Given the description of an element on the screen output the (x, y) to click on. 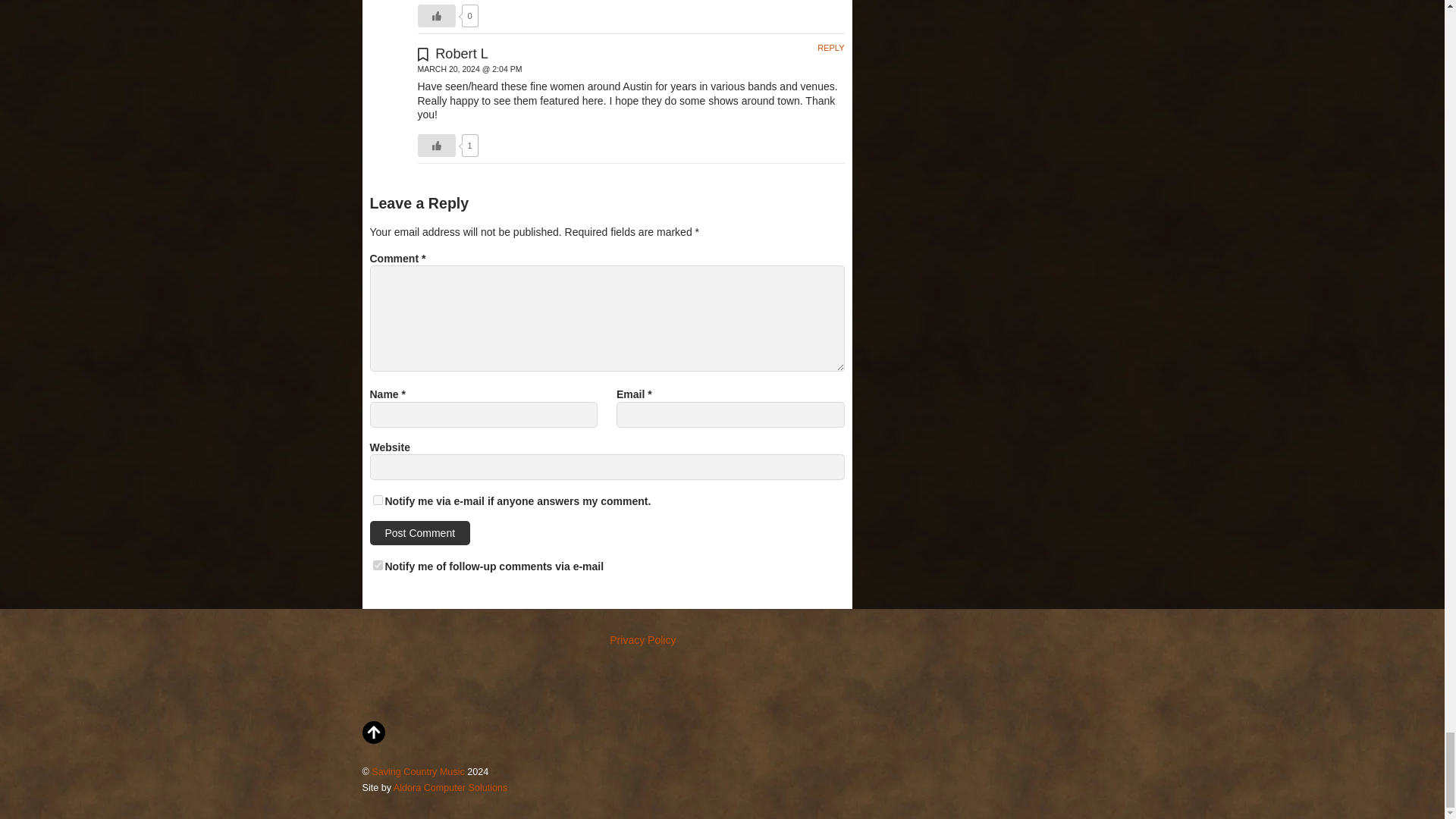
on (377, 500)
Post Comment (419, 532)
on (377, 565)
